Given the description of an element on the screen output the (x, y) to click on. 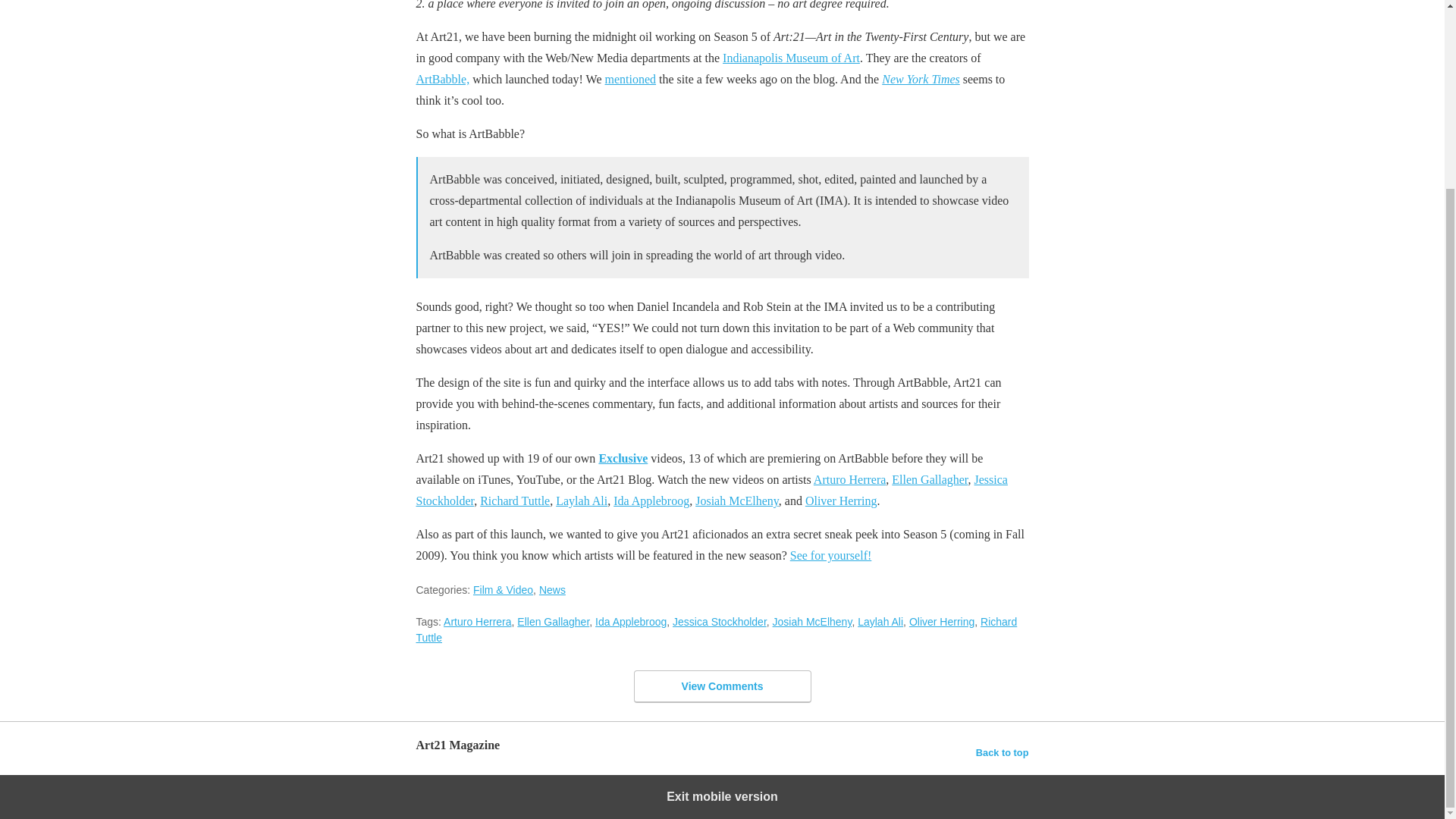
Ida Applebroog (630, 621)
Back to top (1002, 752)
New York Times (920, 78)
Indianapolis Museum of Art (791, 57)
View Comments (721, 685)
Oliver Herring (941, 621)
ArtBabble, (441, 78)
Ida Applebroog (650, 500)
Laylah Ali (581, 500)
Josiah McElheny (736, 500)
Richard Tuttle (515, 500)
Arturo Herrera (849, 479)
mentioned (630, 78)
Richard Tuttle (715, 629)
Laylah Ali (879, 621)
